Given the description of an element on the screen output the (x, y) to click on. 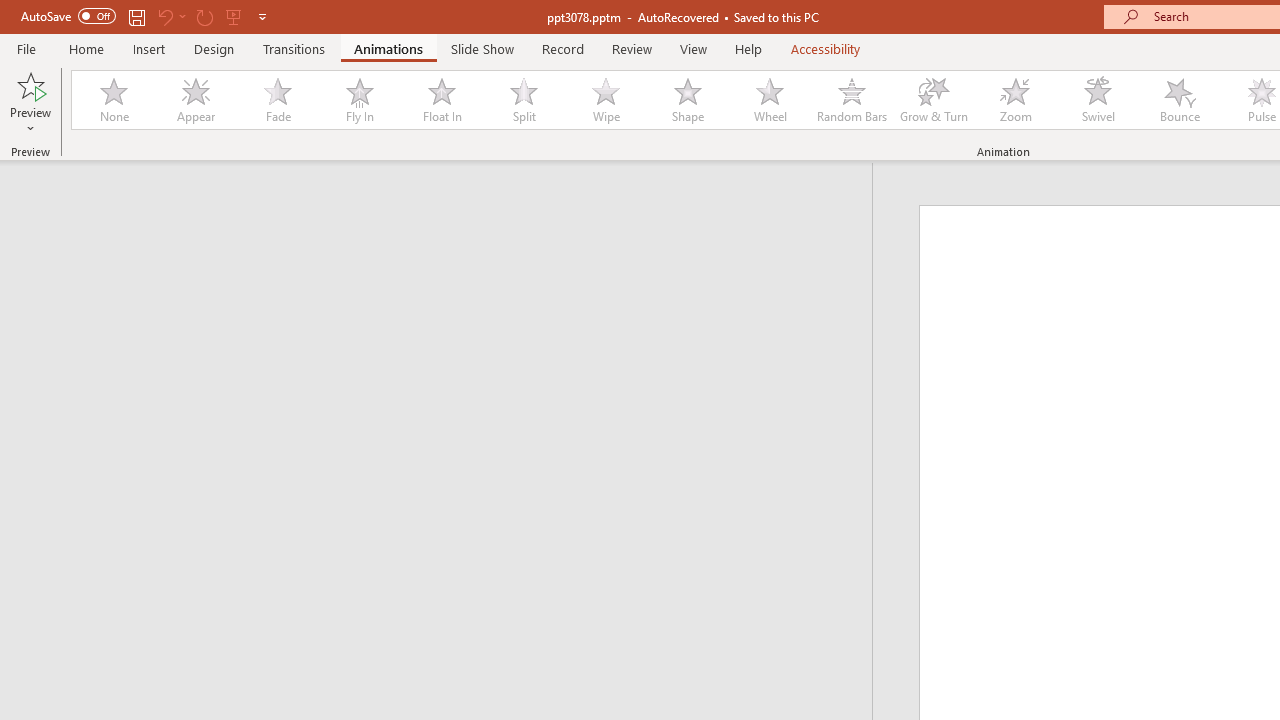
Float In (441, 100)
Fly In (359, 100)
Wheel (770, 100)
Bounce (1180, 100)
